Given the description of an element on the screen output the (x, y) to click on. 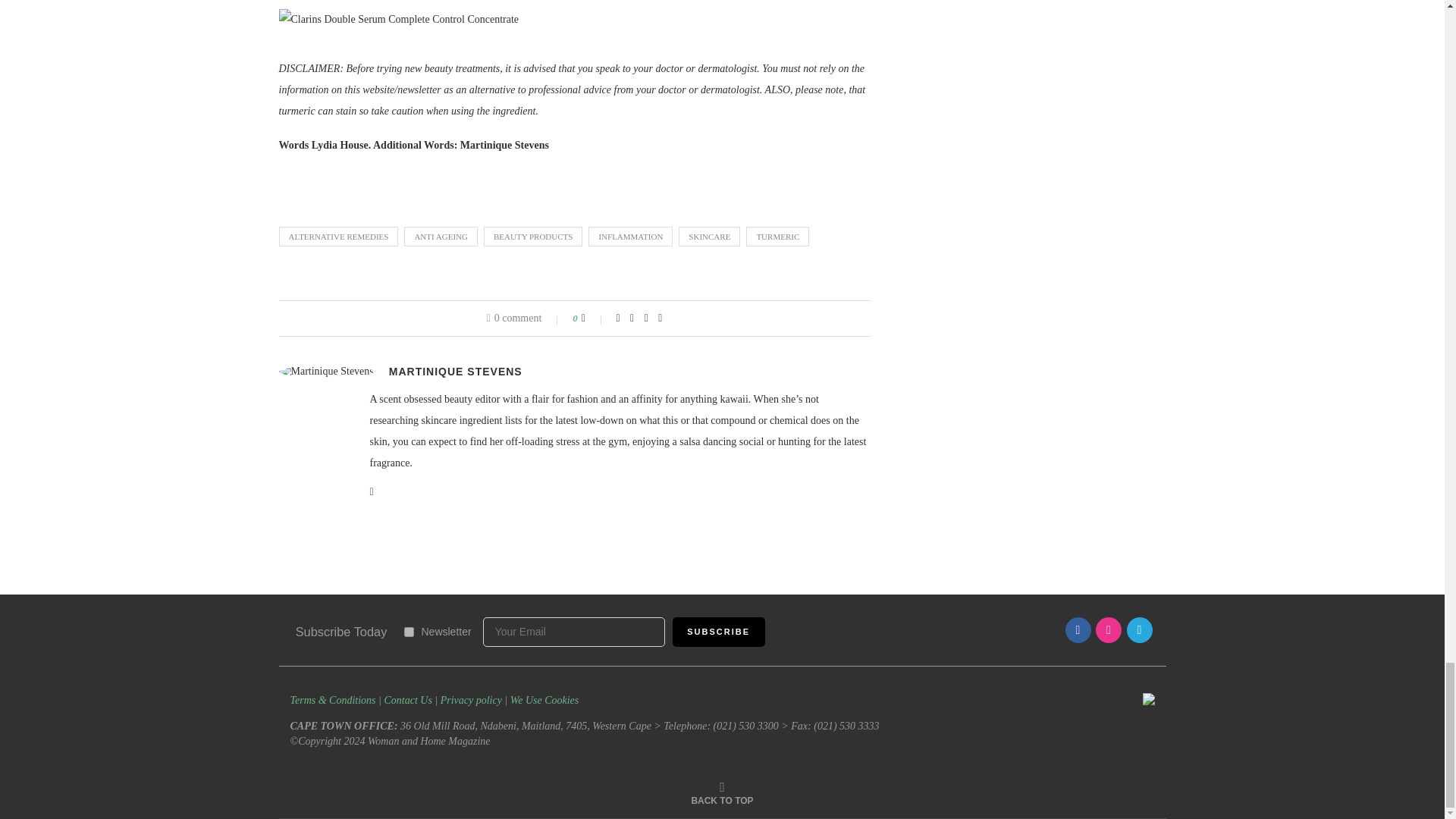
19087 (408, 632)
Posts by Martinique Stevens (455, 371)
Like (592, 318)
Subscribe (718, 632)
